Given the description of an element on the screen output the (x, y) to click on. 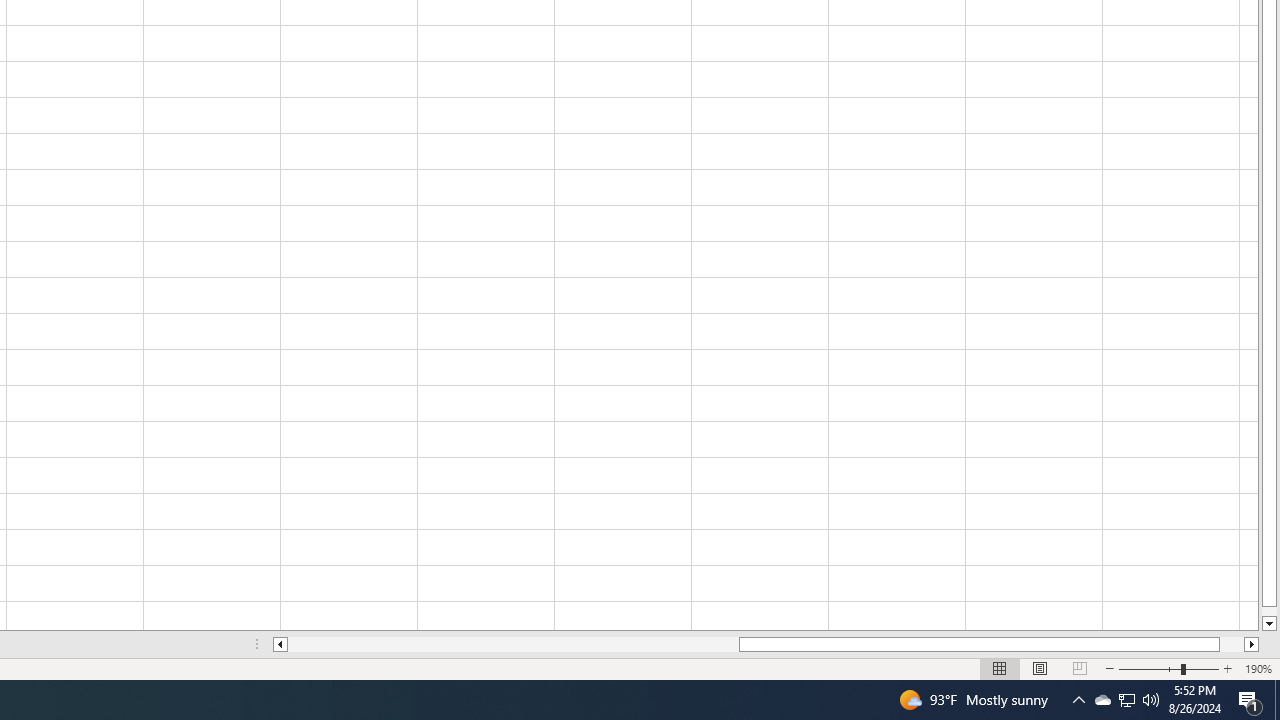
Page left (513, 644)
